Given the description of an element on the screen output the (x, y) to click on. 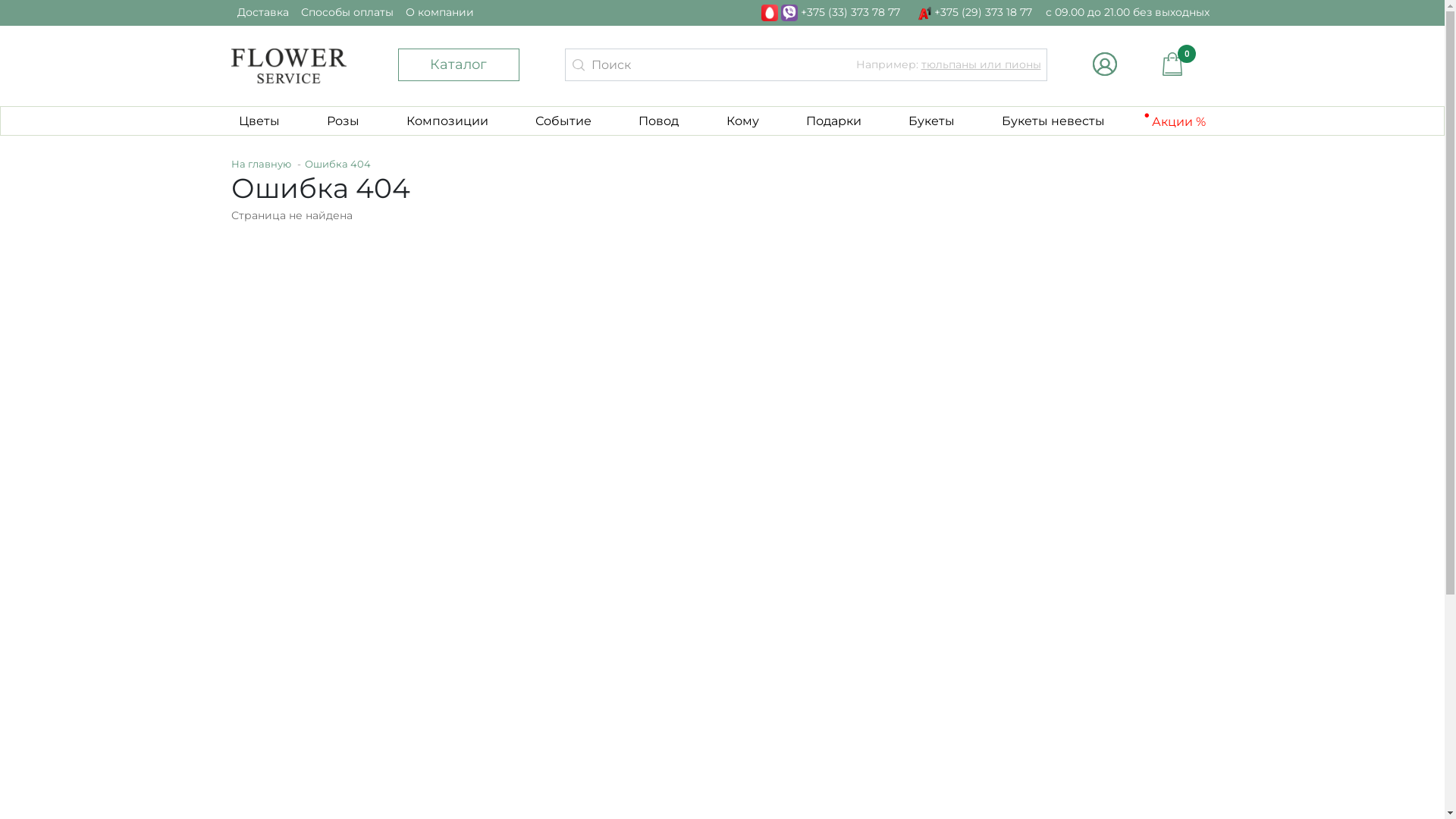
0 Element type: text (1173, 63)
+375 (29) 373 18 77 Element type: text (974, 11)
+375 (33) 373 78 77 Element type: text (830, 11)
